Given the description of an element on the screen output the (x, y) to click on. 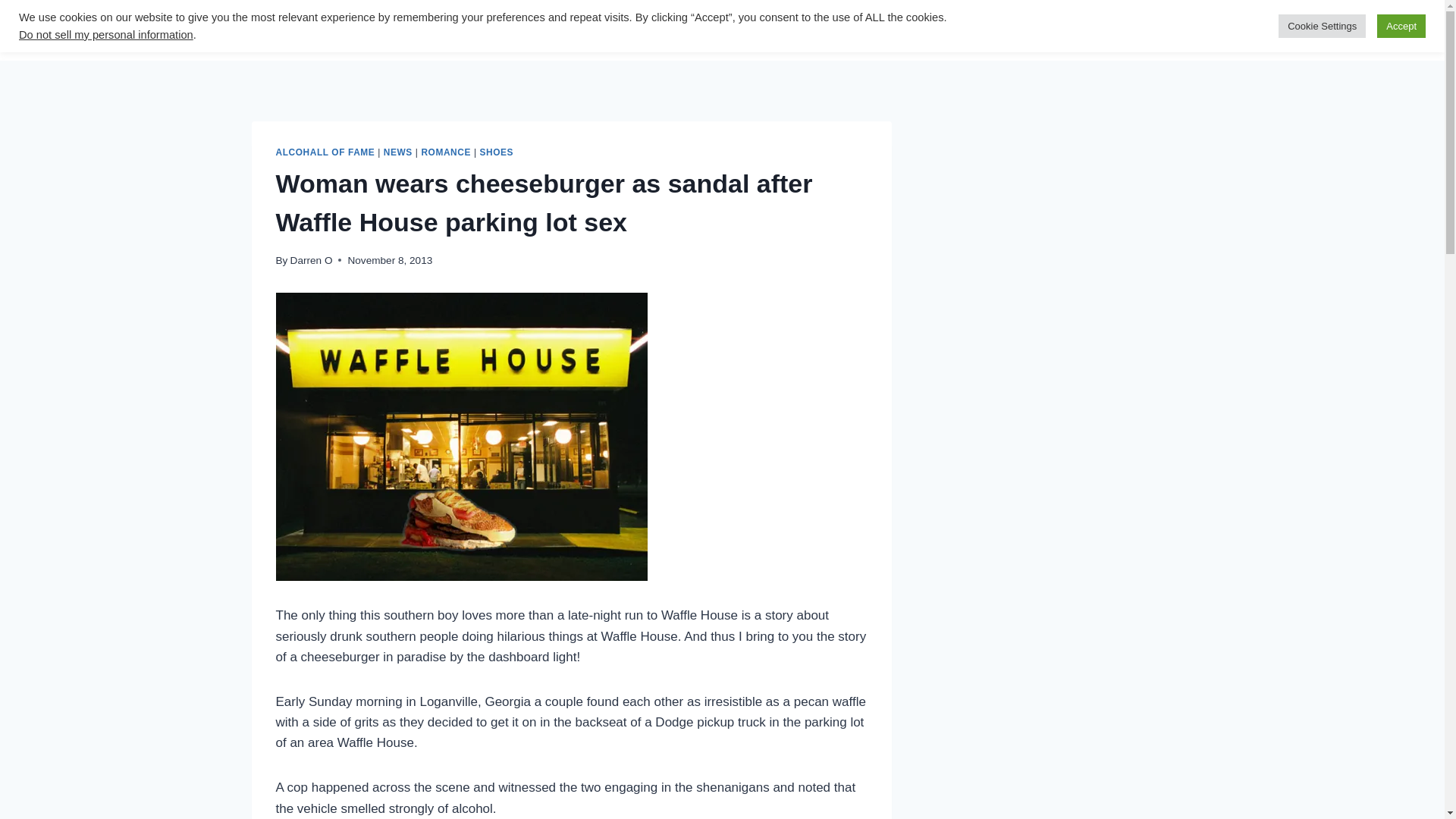
ROMANCE (445, 152)
Search (604, 30)
SHOES (496, 152)
NEWS (398, 152)
ALCOHALL OF FAME (325, 152)
Waffle-House-Hamburger-Shoe (461, 436)
Search (604, 30)
Search (604, 30)
Darren O (311, 260)
